Given the description of an element on the screen output the (x, y) to click on. 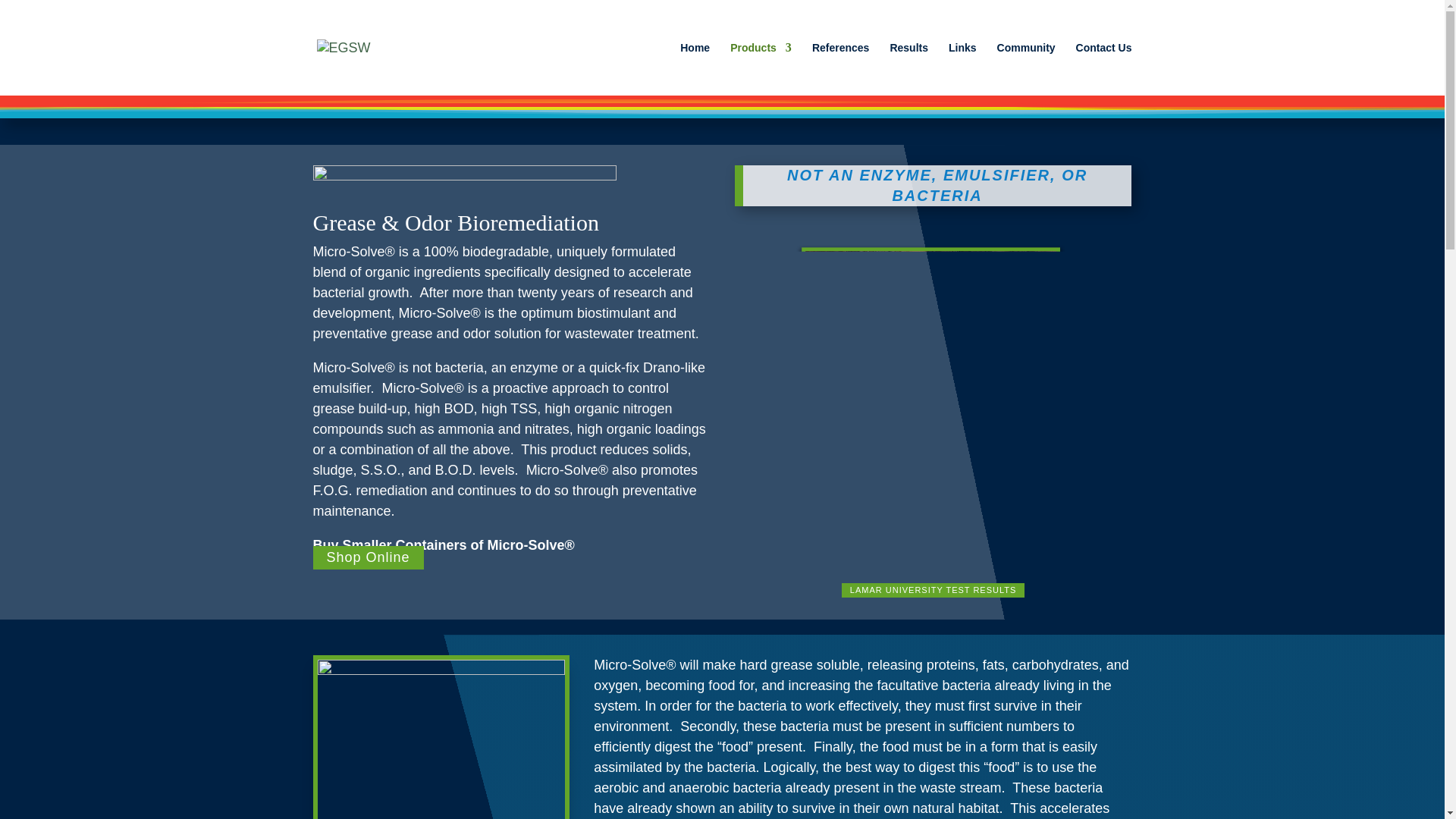
LAMAR UNIVERSITY TEST RESULTS (933, 590)
References (840, 68)
Products (761, 68)
Contact Us (1103, 68)
Community (1026, 68)
Shop Online (368, 557)
